Given the description of an element on the screen output the (x, y) to click on. 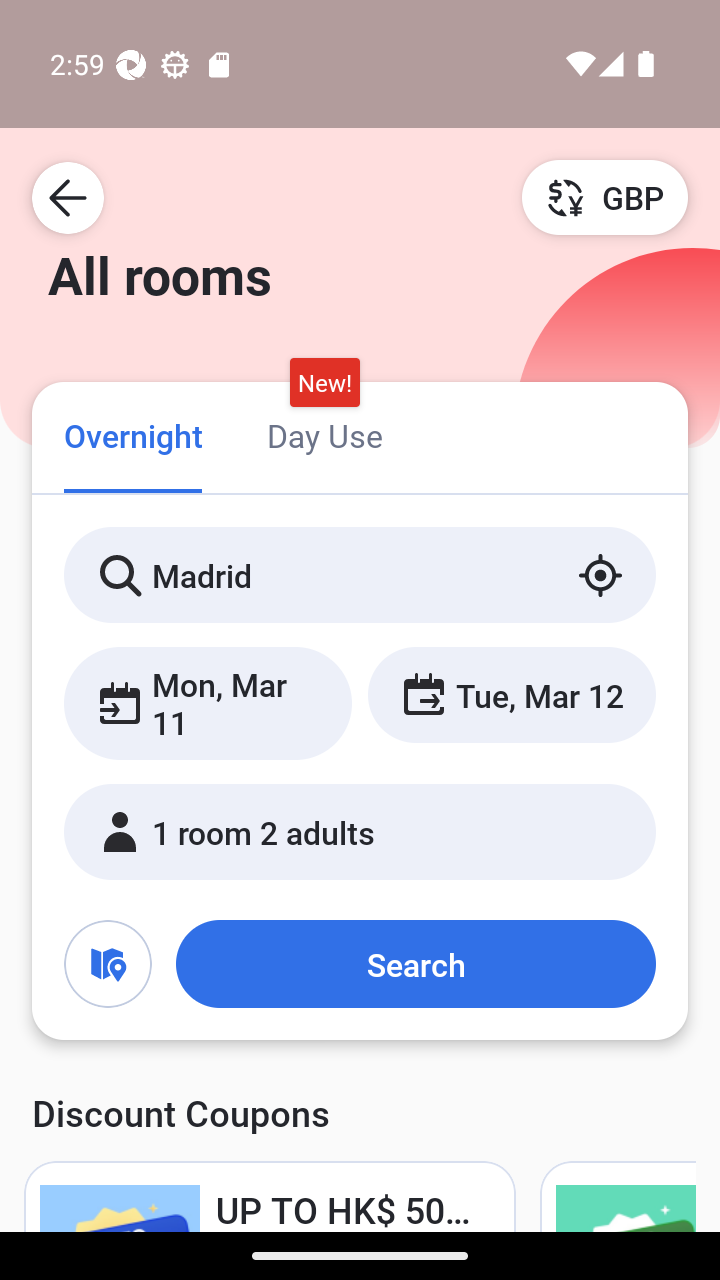
GBP (605, 197)
New! (324, 383)
Day Use (324, 434)
Madrid (359, 575)
Mon, Mar 11 (208, 703)
Tue, Mar 12 (511, 694)
1 room 2 adults (359, 831)
Search (415, 964)
